Given the description of an element on the screen output the (x, y) to click on. 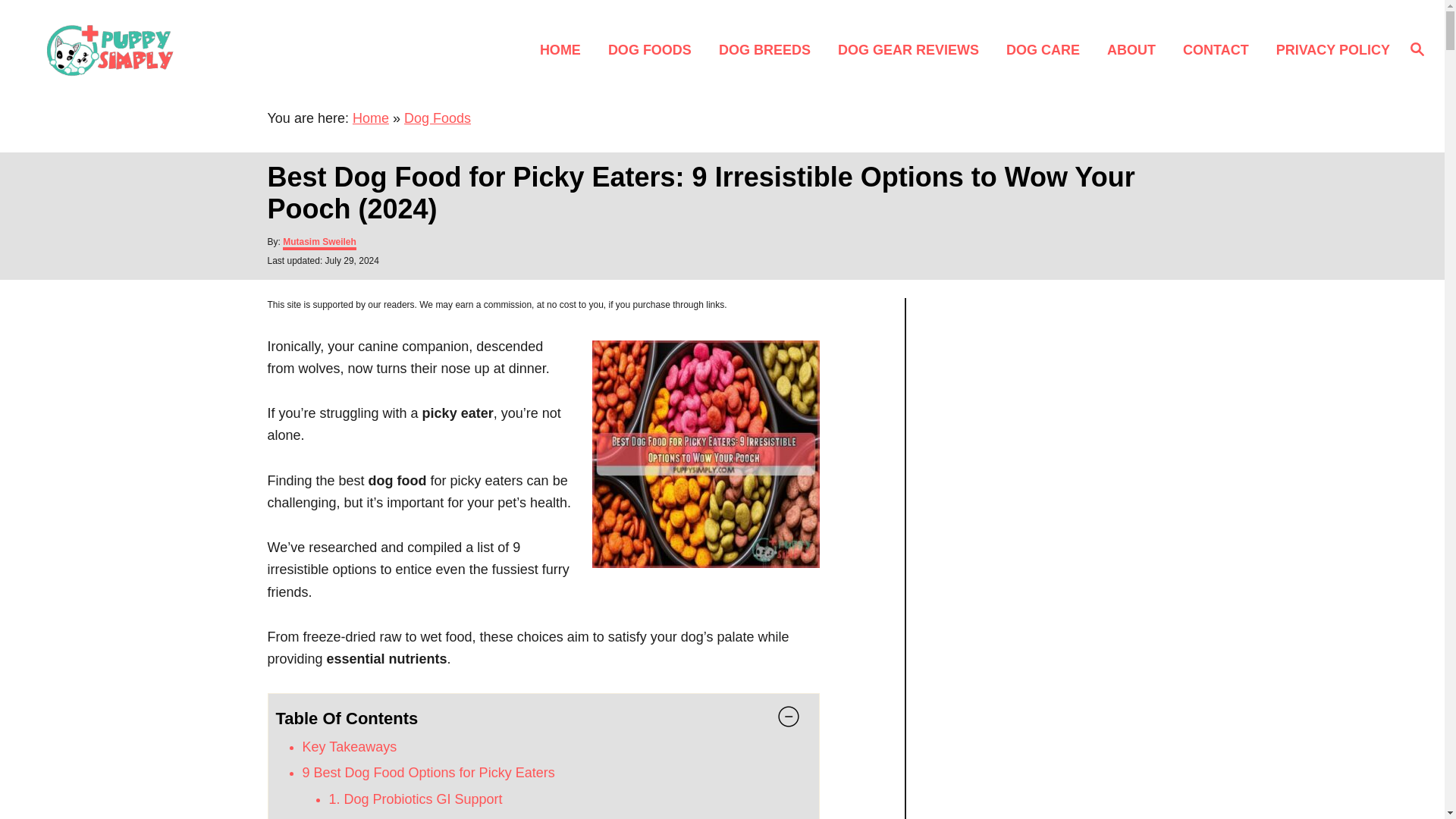
Key Takeaways (348, 746)
CONTACT (1219, 49)
DOG CARE (1047, 49)
Dog Foods (437, 118)
DOG FOODS (654, 49)
Magnifying Glass (1416, 48)
1. Dog Probiotics GI Support (415, 798)
DOG GEAR REVIEWS (912, 49)
Home (370, 118)
